Given the description of an element on the screen output the (x, y) to click on. 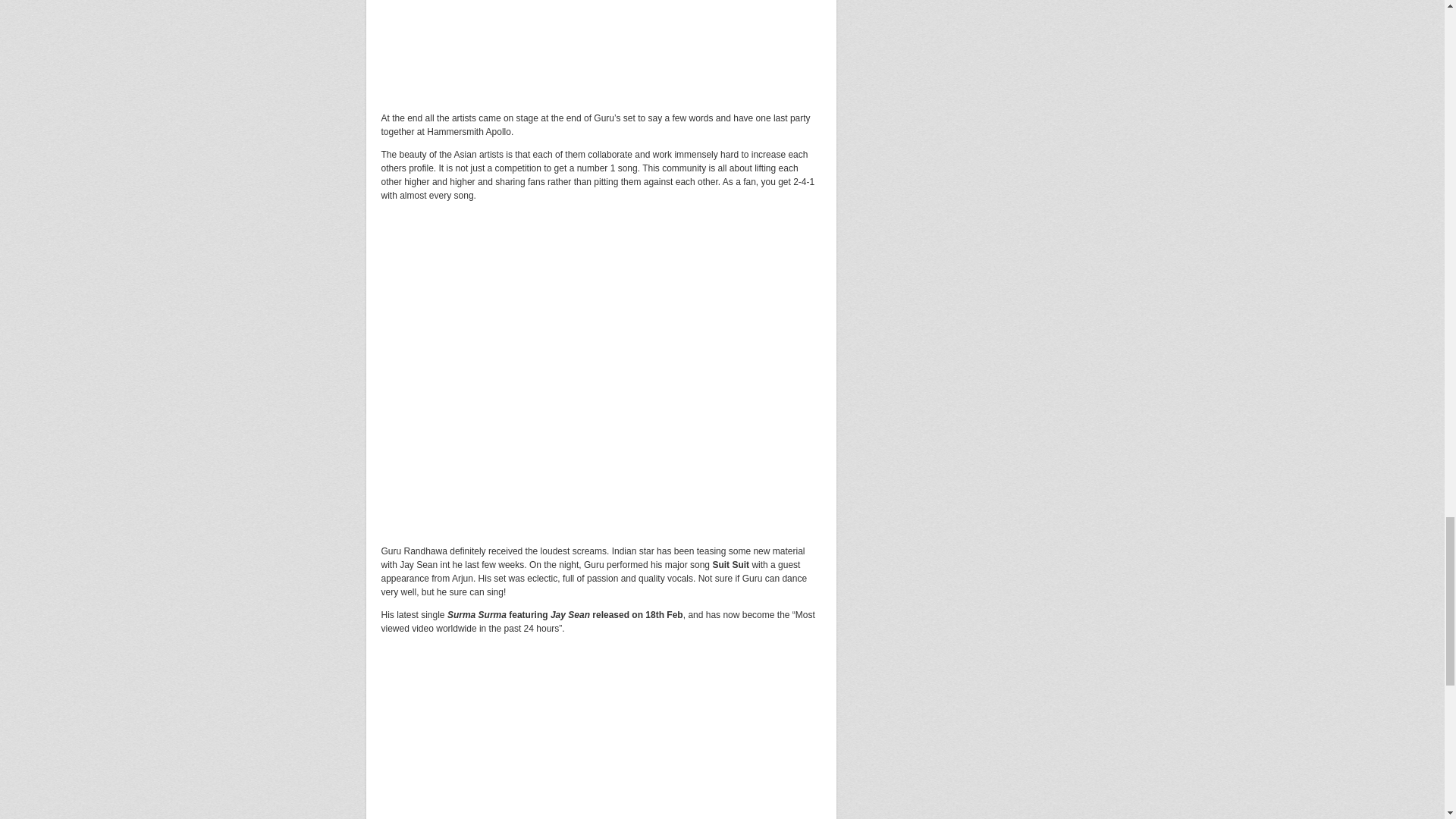
guru randhawa (600, 362)
ForNatasha (600, 38)
